Given the description of an element on the screen output the (x, y) to click on. 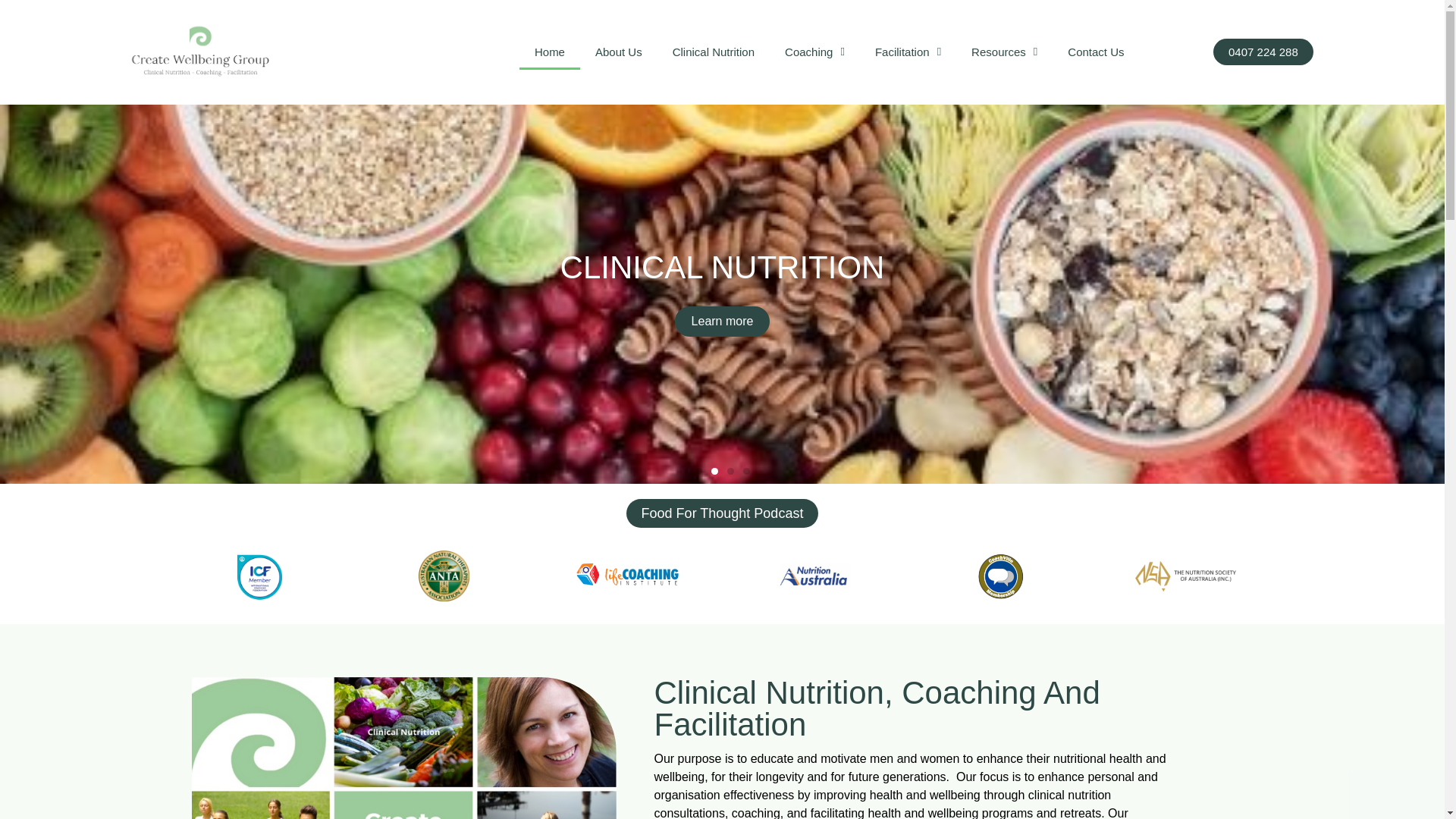
Facilitation (908, 52)
Contact Us (1095, 52)
Coaching (815, 52)
Resources (1004, 52)
About Us (618, 52)
Home (549, 52)
LOGO (198, 51)
0407 224 288 (1262, 51)
Clinical Nutrition (714, 52)
